Given the description of an element on the screen output the (x, y) to click on. 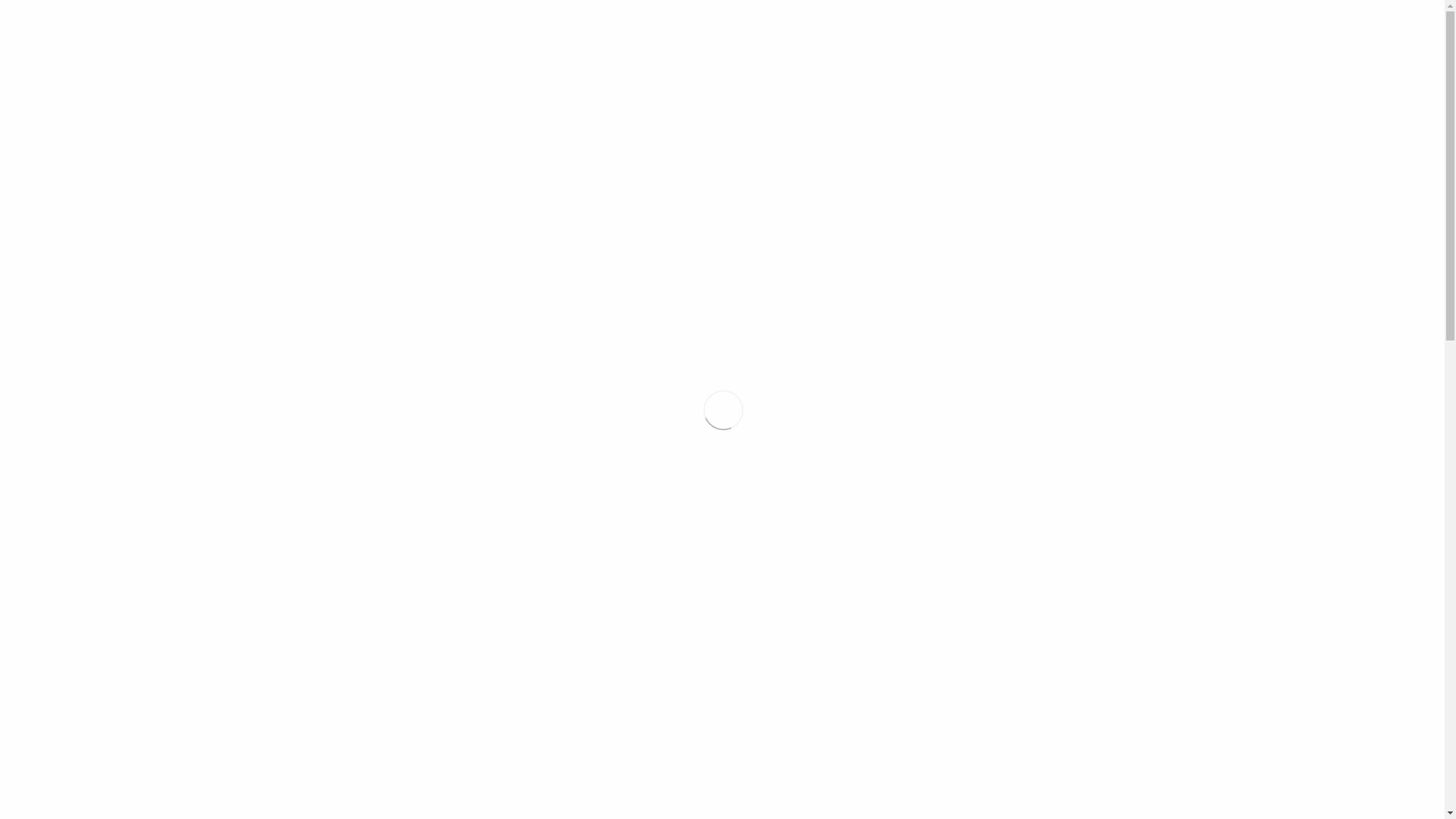
NOVOSTI Element type: text (613, 111)
Google Map Element type: hover (1140, 16)
Facebook Element type: hover (296, 555)
Svetu misu na groblju Slimena je predvodio fra Marinko Didak Element type: text (1088, 377)
Facebook Element type: hover (1155, 16)
Uncategorized Element type: text (476, 610)
Novosti Element type: text (412, 610)
Zupne obavijesti Element type: text (562, 610)
KONTAKT Element type: text (1133, 111)
NASLOVNICA Element type: text (519, 111)
Viber Element type: hover (355, 555)
Whatsapp Element type: hover (326, 555)
